Given the description of an element on the screen output the (x, y) to click on. 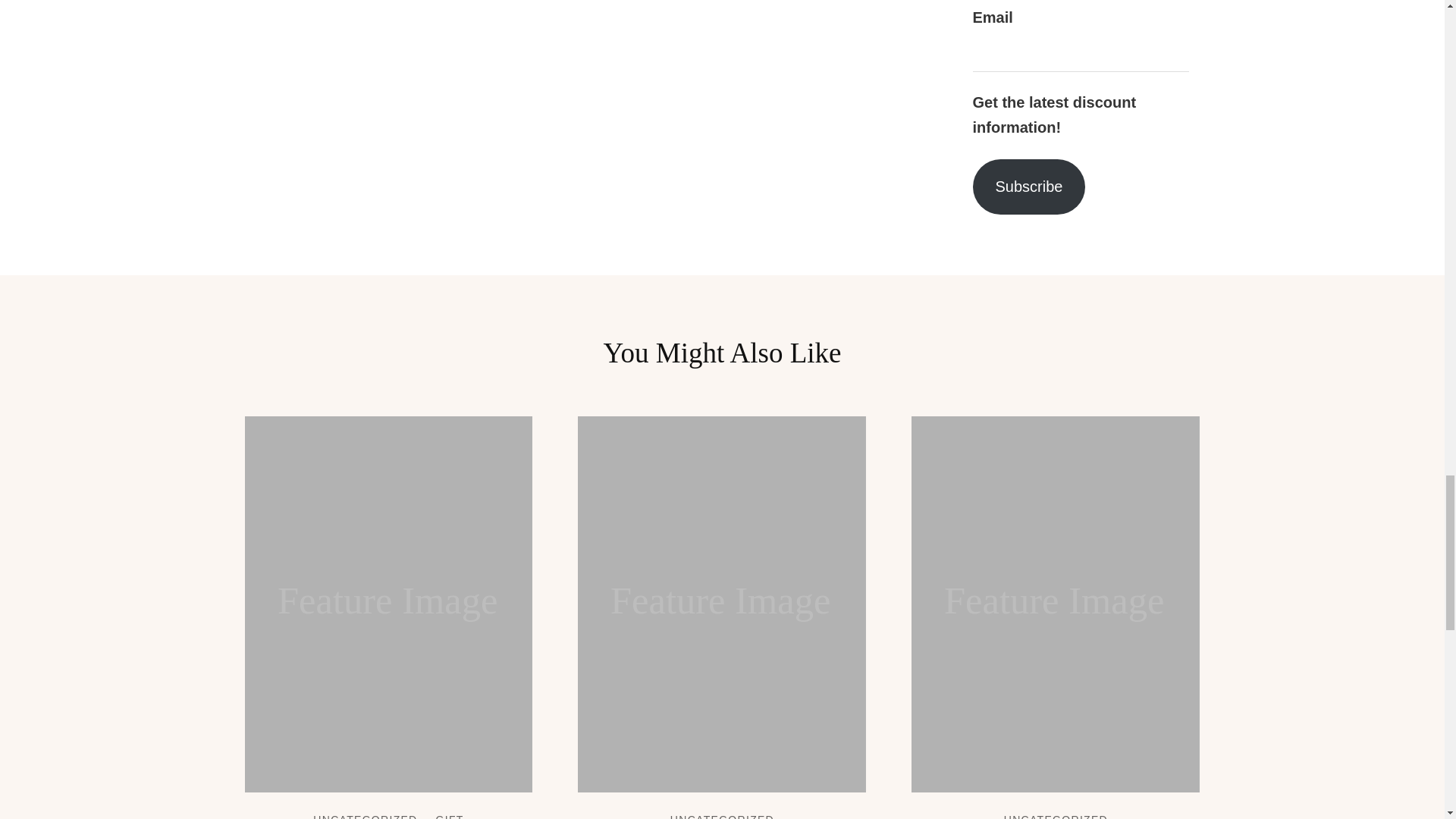
Feature Image (722, 604)
Feature Image (388, 604)
Feature Image (1055, 604)
